Given the description of an element on the screen output the (x, y) to click on. 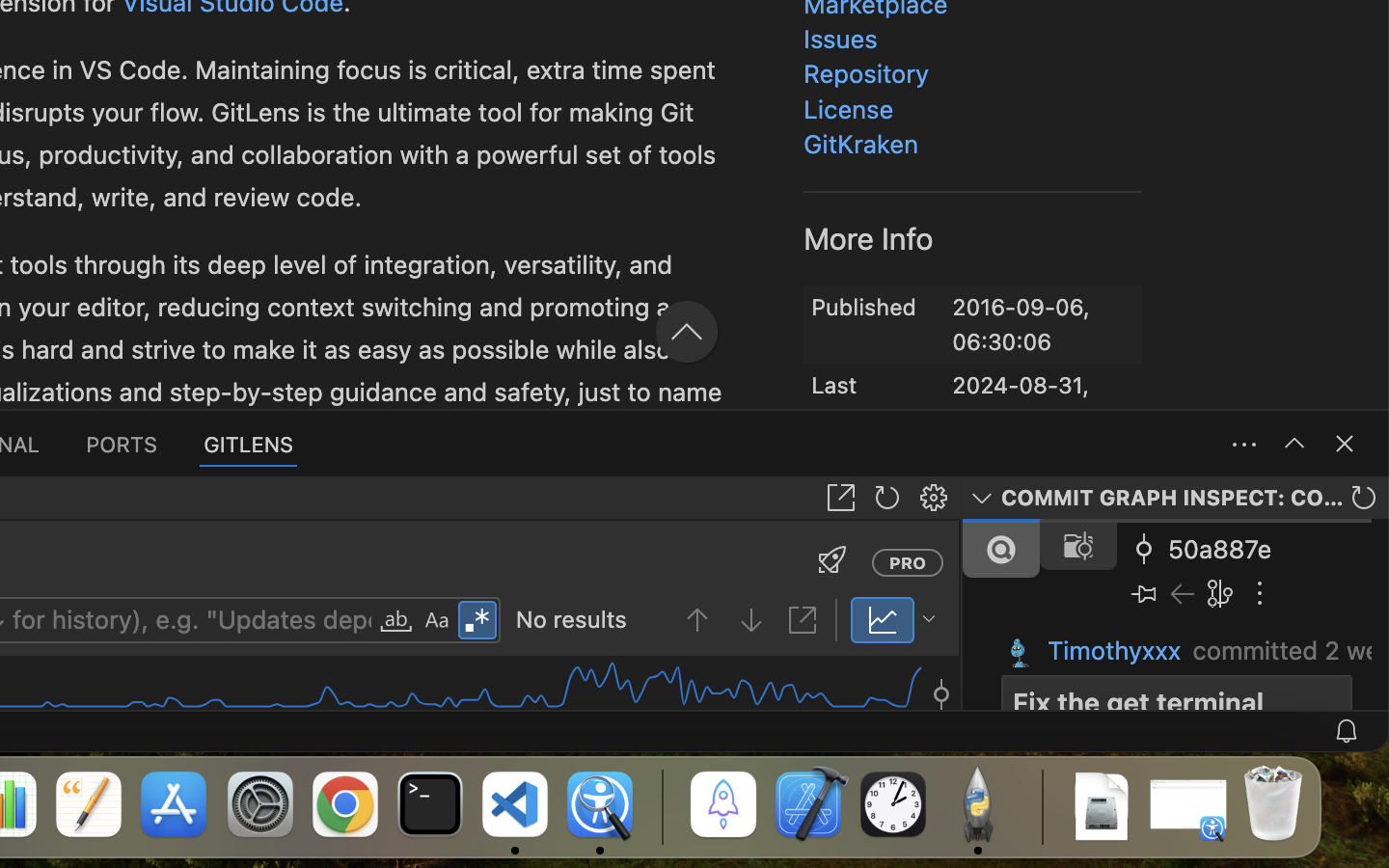
COMMIT GRAPH INSPECT: COMMIT DETAILS   Element type: AXButton (1175, 497)
License Element type: AXStaticText (849, 108)
gitlens Element type: AXStaticText (138, 305)
Commit Graph Element type: AXStaticText (841, 328)
2024-08-31, 17:11:19 Element type: AXStaticText (1021, 389)
